Given the description of an element on the screen output the (x, y) to click on. 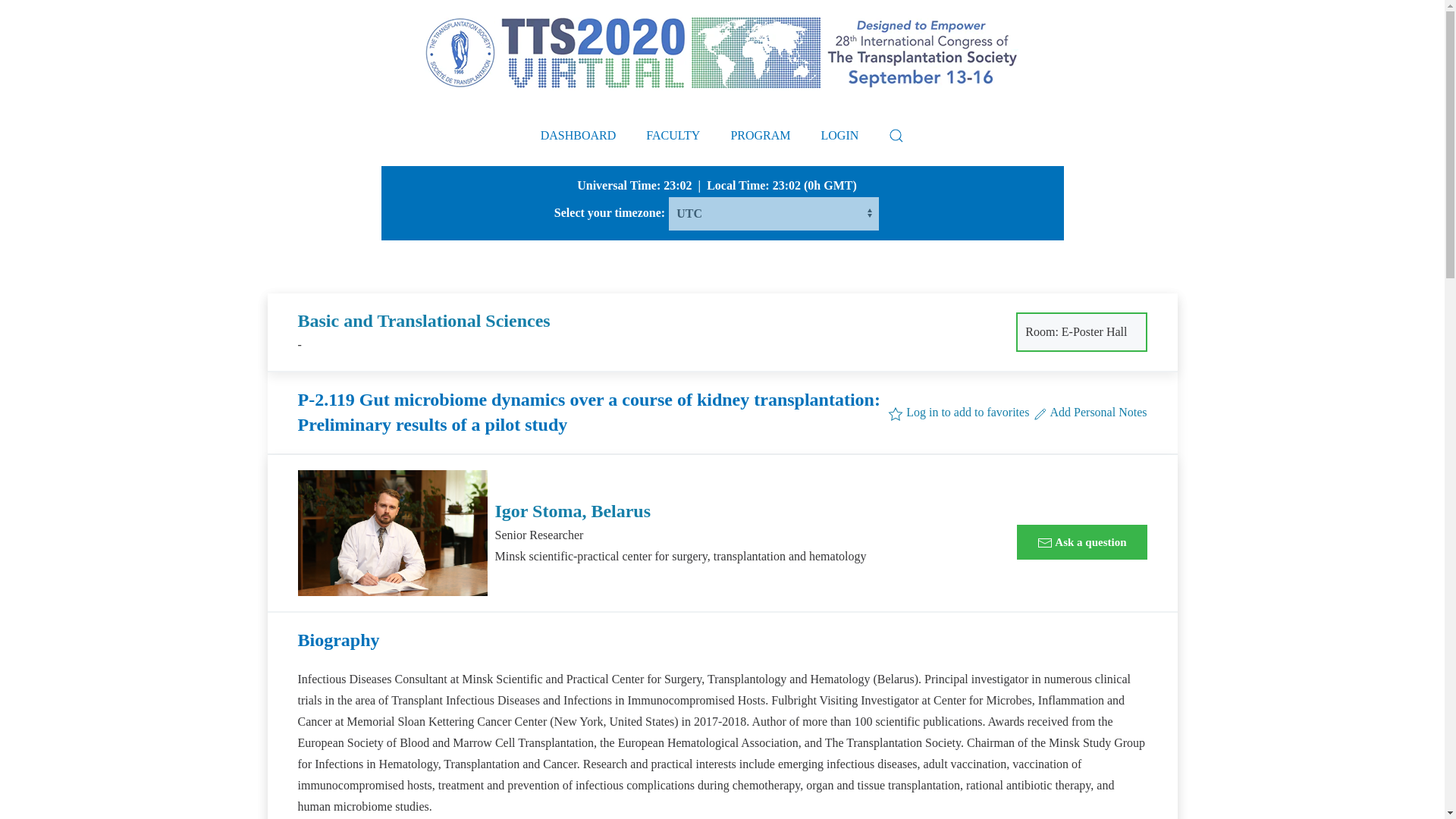
PROGRAM (759, 135)
DASHBOARD (578, 135)
LOGIN (840, 135)
Ask a question (1081, 541)
FACULTY (672, 135)
Log in to add to favorites (958, 411)
Add Personal Notes (1089, 411)
Basic and Translational Sciences (423, 320)
Add to favourites? (958, 411)
Igor Stoma, Belarus (572, 510)
